Given the description of an element on the screen output the (x, y) to click on. 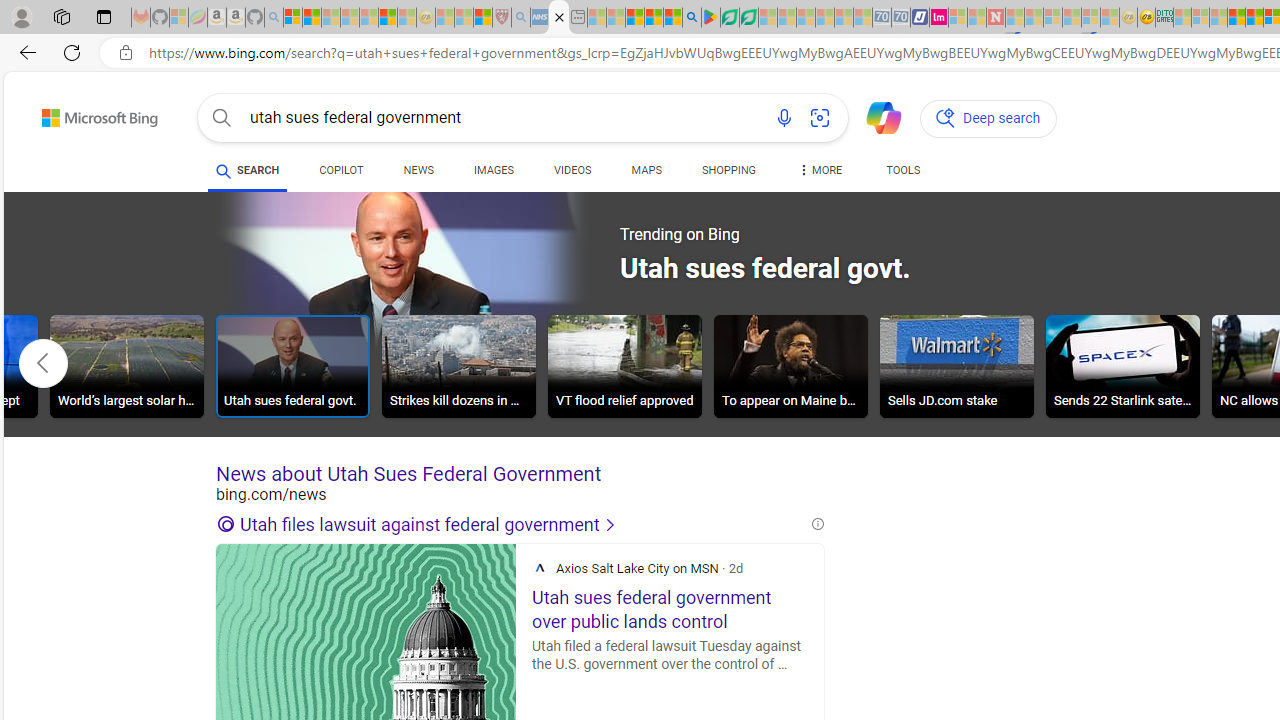
Expert Portfolios (1236, 17)
Microsoft Word - consumer-privacy address update 2.2021 (748, 17)
MAPS (646, 170)
NEWS (418, 173)
Strikes kill dozens in Gaza (458, 365)
NEWS (418, 170)
